Given the description of an element on the screen output the (x, y) to click on. 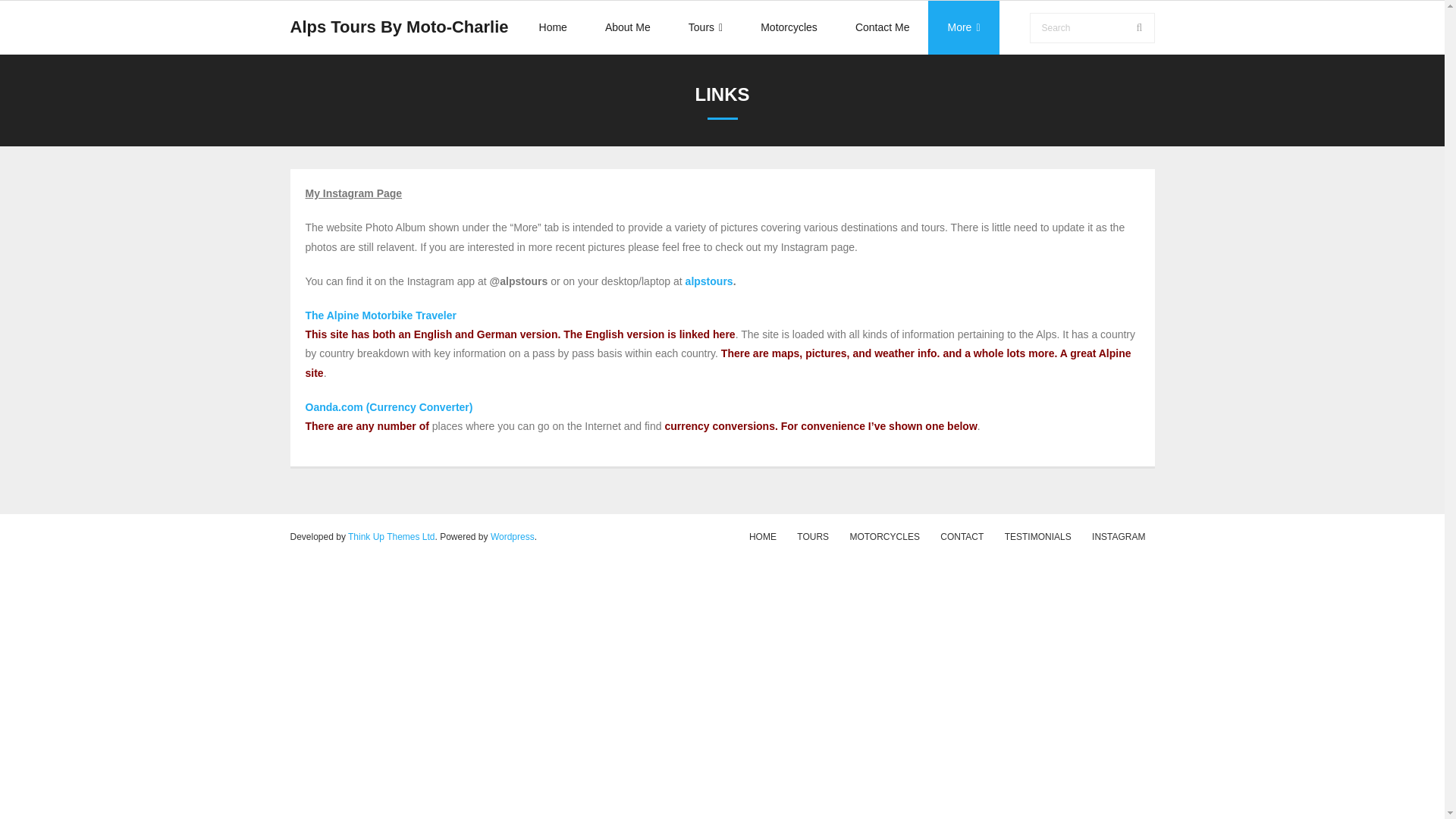
Alps Tours By Moto-Charlie (398, 27)
Contact Me (881, 27)
Search (33, 15)
Motorcycles (788, 27)
Alps Tours By Moto-Charlie (398, 27)
Tours (705, 27)
Home (552, 27)
More (963, 27)
About Me (627, 27)
